Given the description of an element on the screen output the (x, y) to click on. 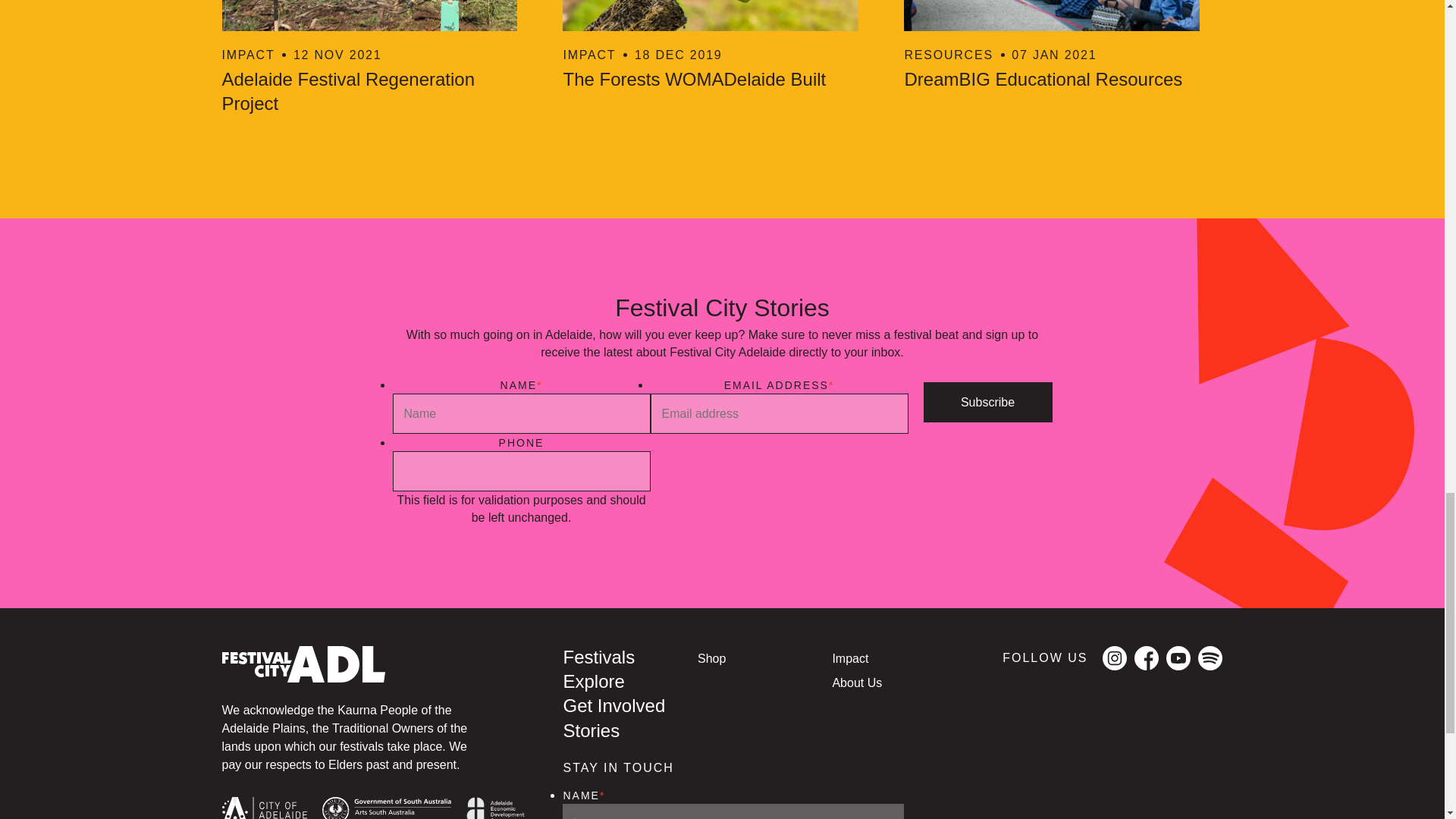
Find out more about DreamBIG Educational Resources (1063, 45)
Subscribe (721, 45)
Subscribe (1063, 45)
Find out more about The Forests WOMADelaide Built (987, 402)
Find out more about Adelaide Festival Regeneration Project (987, 402)
